Given the description of an element on the screen output the (x, y) to click on. 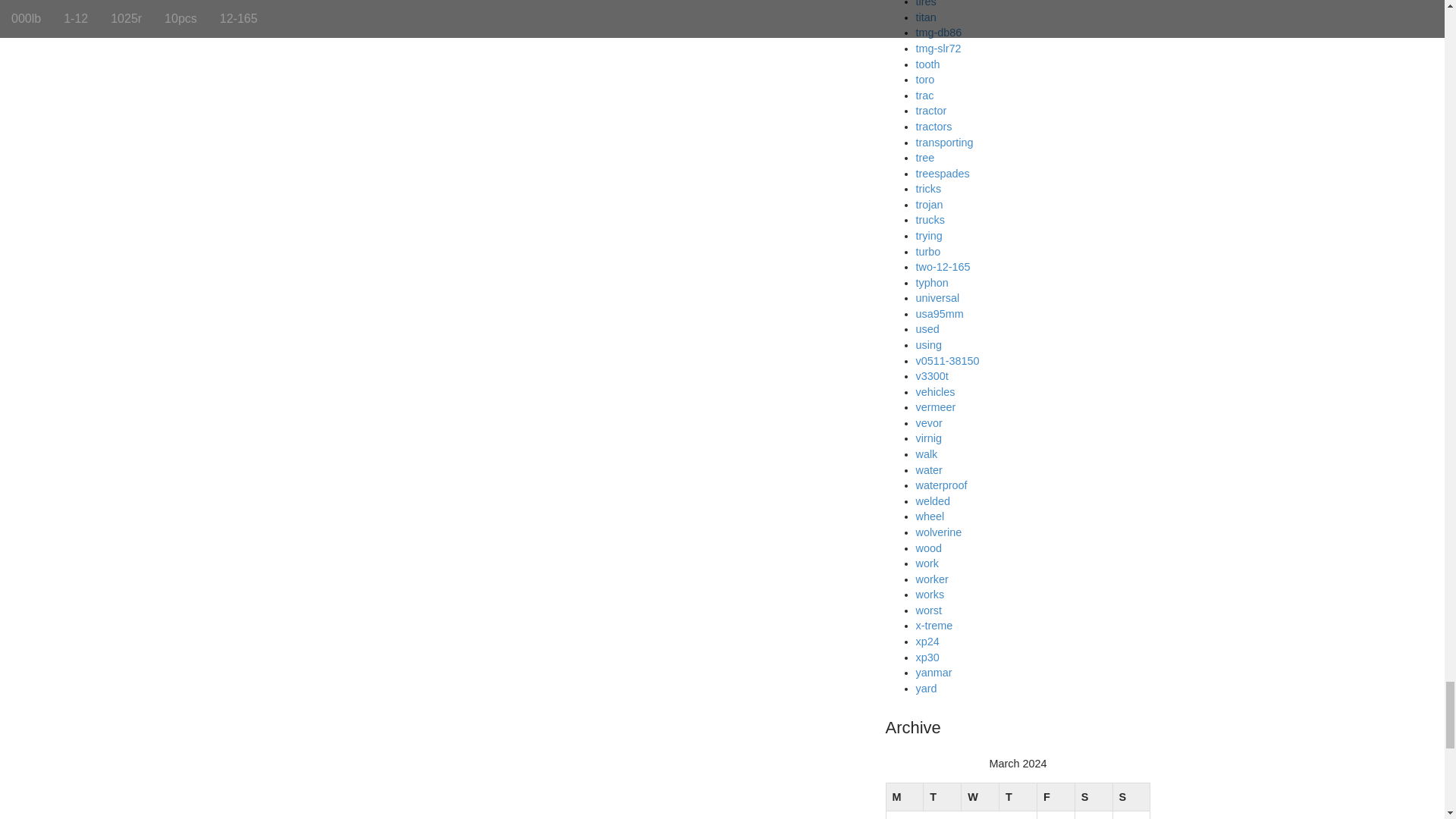
Wednesday (979, 796)
Monday (904, 796)
Saturday (1093, 796)
Tuesday (941, 796)
Thursday (1017, 796)
Friday (1055, 796)
